Given the description of an element on the screen output the (x, y) to click on. 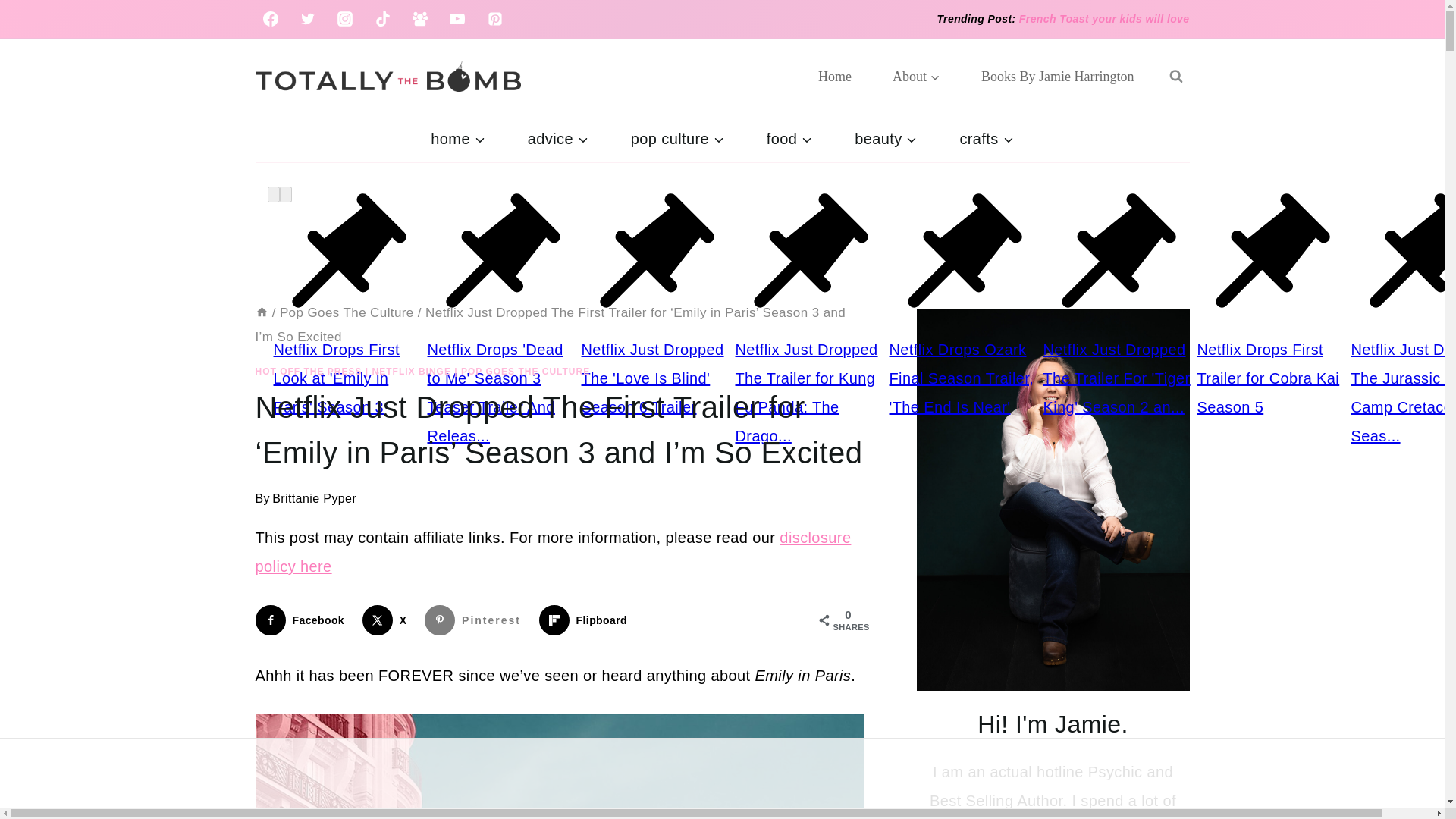
Share on Facebook (302, 620)
home (457, 138)
Books By Jamie Harrington (1057, 76)
advice (558, 138)
Share on X (387, 620)
Home (834, 76)
French Toast your kids will love (1104, 19)
About (916, 76)
pop culture (677, 138)
Share on Flipboard (585, 620)
Save to Pinterest (476, 620)
Home (260, 312)
